Given the description of an element on the screen output the (x, y) to click on. 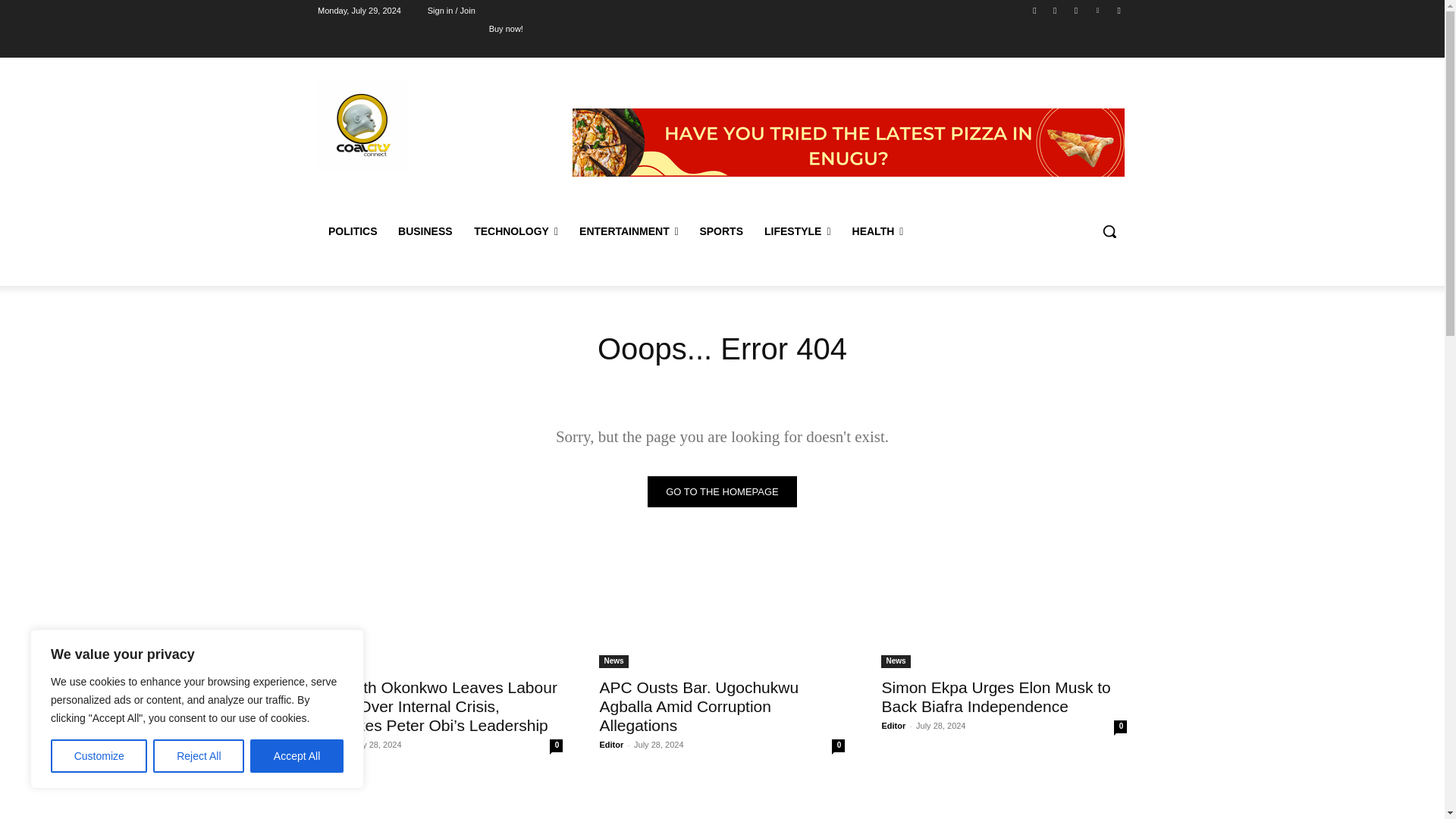
Facebook (1034, 9)
Instagram (1055, 9)
POLITICS (352, 230)
Reject All (198, 756)
Buy now! (505, 28)
Customize (98, 756)
TECHNOLOGY (516, 230)
Twitter (1075, 9)
Vimeo (1097, 9)
Accept All (296, 756)
BUSINESS (425, 230)
Youtube (1117, 9)
